Given the description of an element on the screen output the (x, y) to click on. 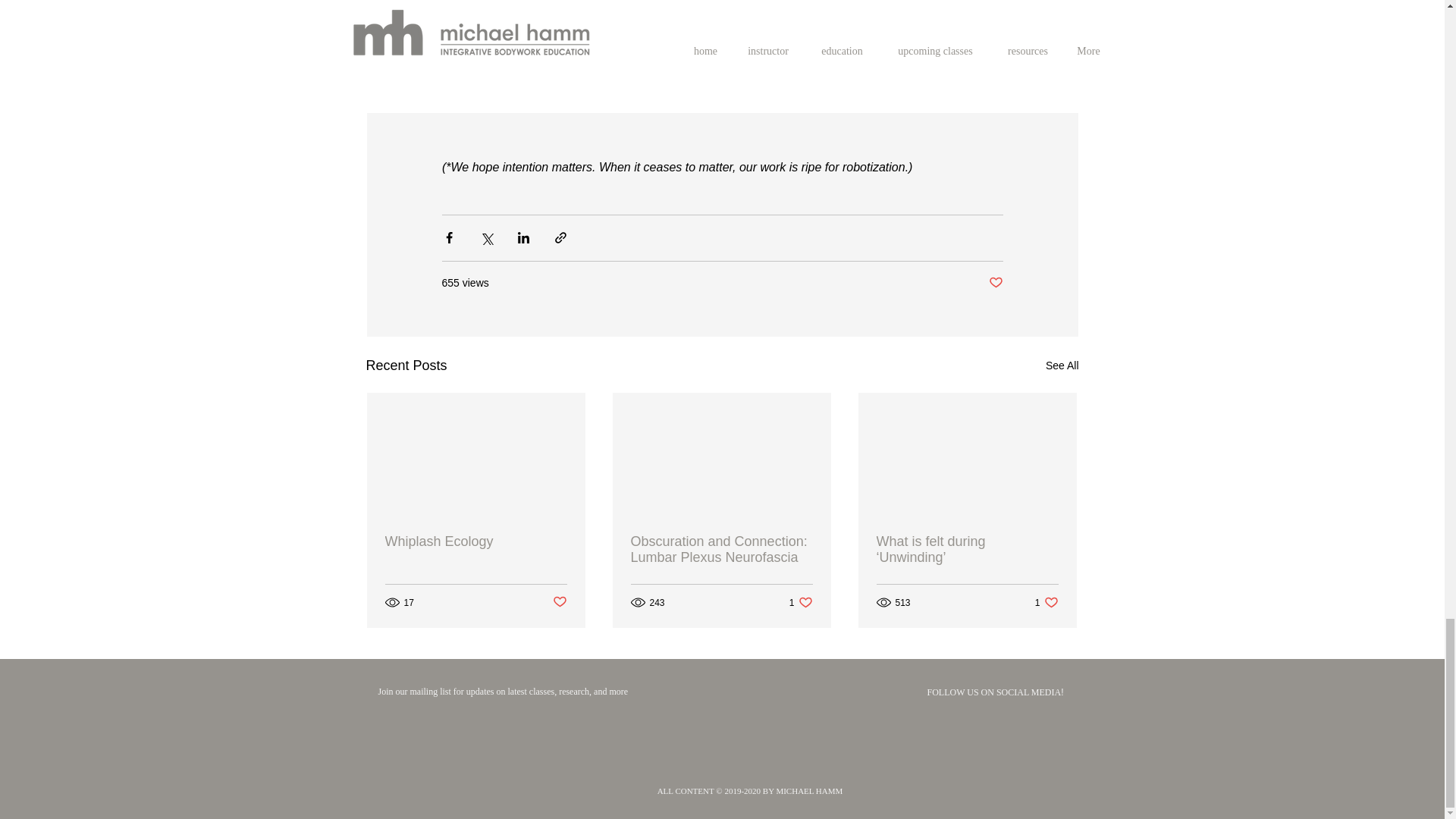
Post not marked as liked (1046, 602)
Obscuration and Connection: Lumbar Plexus Neurofascia (558, 602)
Whiplash Ecology (721, 549)
See All (800, 602)
Post not marked as liked (476, 541)
